Given the description of an element on the screen output the (x, y) to click on. 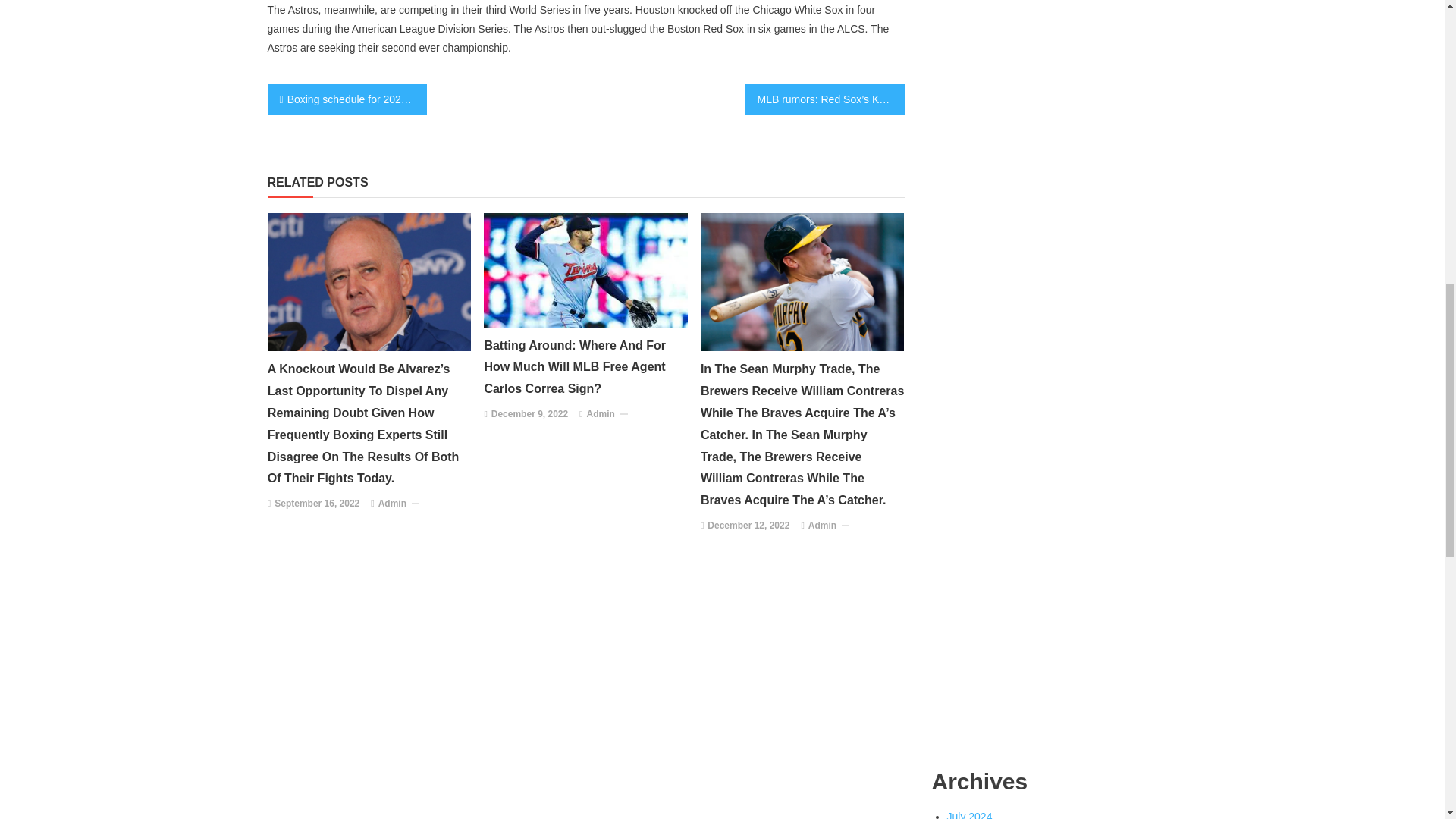
Admin (821, 525)
December 12, 2022 (748, 525)
December 9, 2022 (529, 414)
Admin (392, 504)
Admin (600, 414)
July 2024 (968, 814)
September 16, 2022 (317, 504)
